Given the description of an element on the screen output the (x, y) to click on. 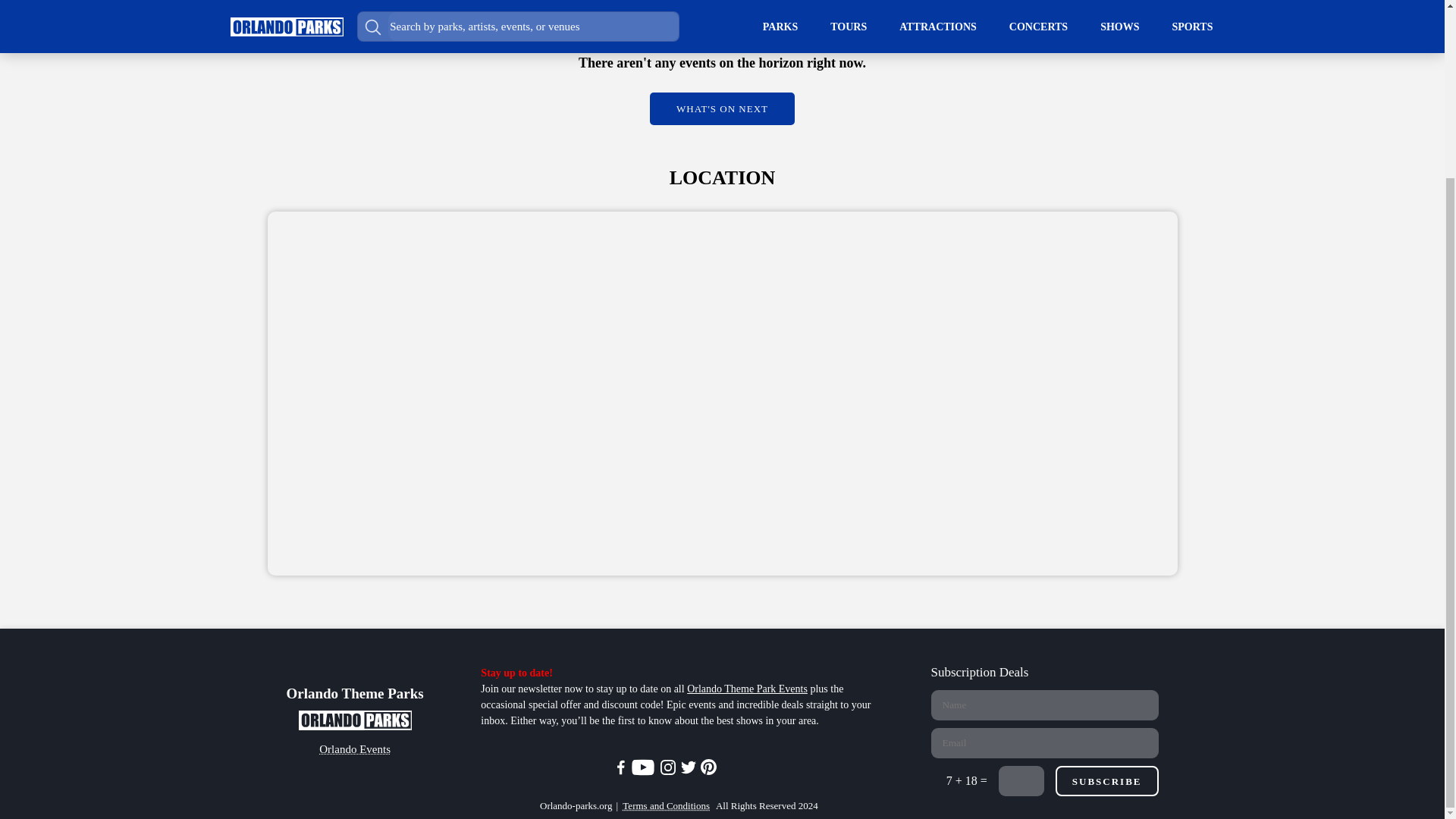
Orlando Theme Park Events (747, 688)
Orlando Events (354, 750)
Terms and Conditions (666, 806)
WHAT'S ON NEXT (721, 109)
